Given the description of an element on the screen output the (x, y) to click on. 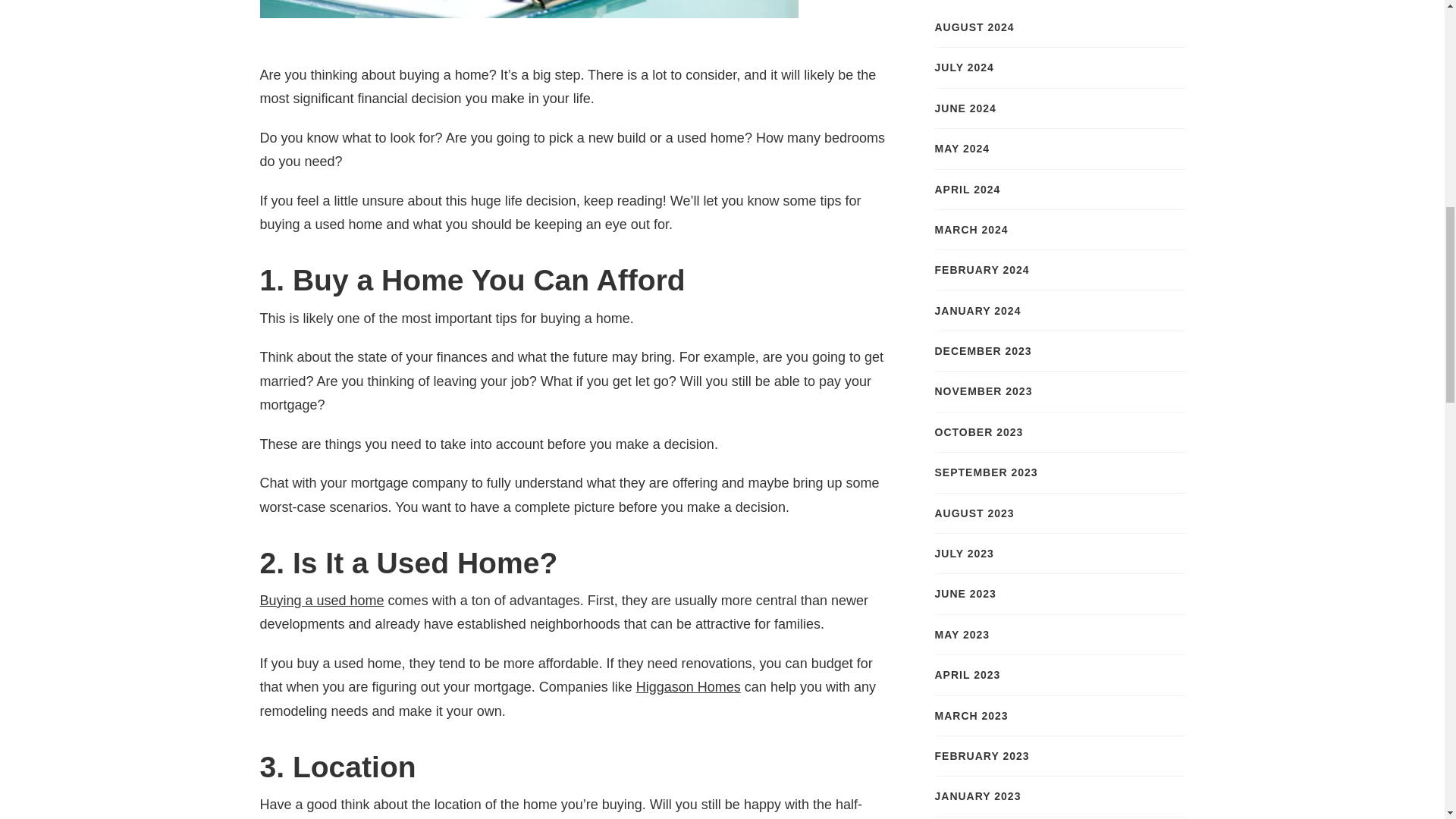
AUGUST 2024 (973, 27)
JULY 2024 (963, 67)
JUNE 2024 (964, 108)
Buying a used home (321, 600)
Higgason Homes (688, 686)
